Given the description of an element on the screen output the (x, y) to click on. 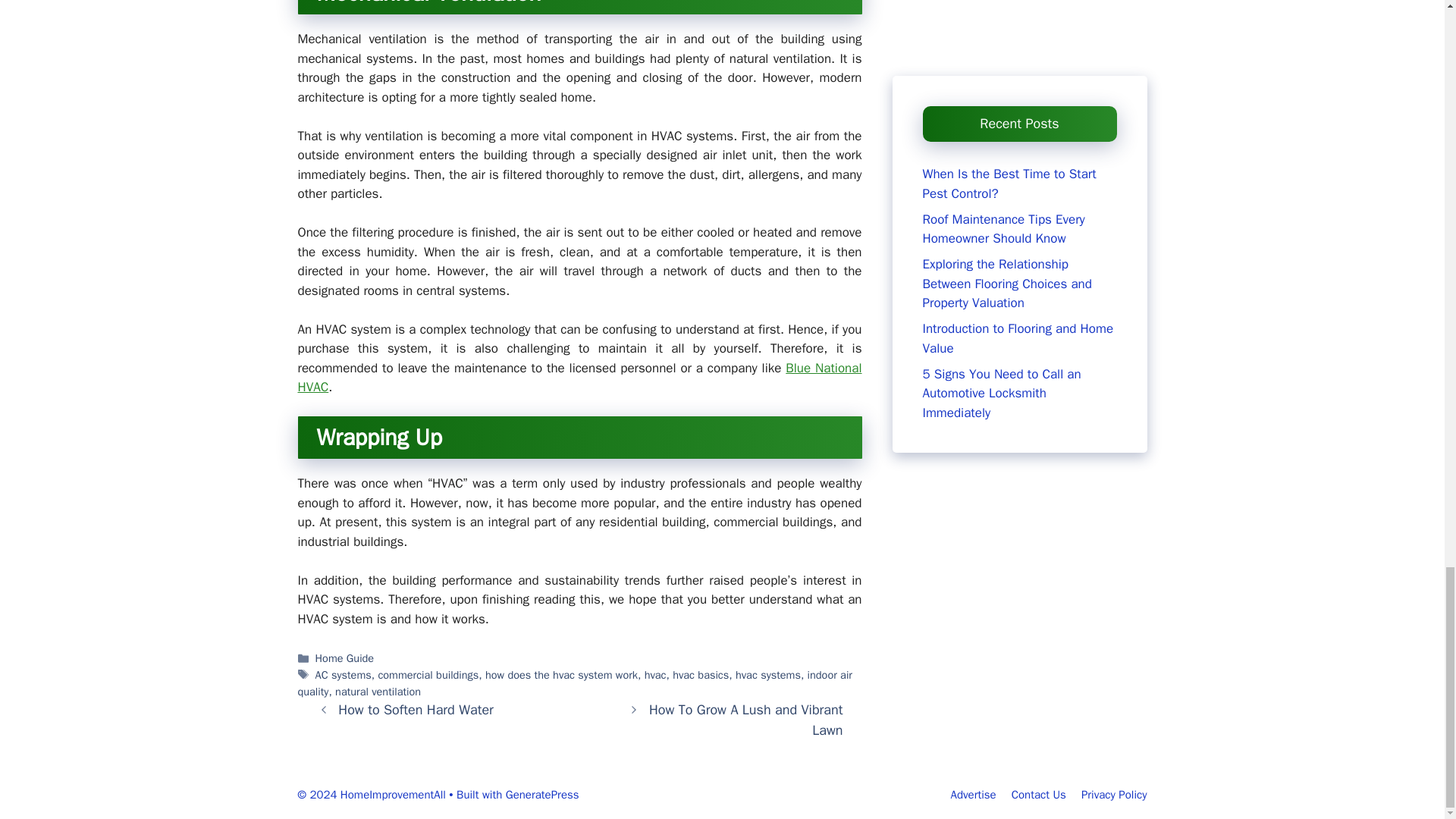
hvac basics (700, 674)
How to Soften Hard Water (415, 709)
hvac systems (767, 674)
hvac (655, 674)
Home Guide (344, 658)
indoor air quality (574, 683)
natural ventilation (377, 691)
Blue National HVAC (579, 377)
how does the hvac system work (560, 674)
How To Grow A Lush and Vibrant Lawn (746, 719)
